Given the description of an element on the screen output the (x, y) to click on. 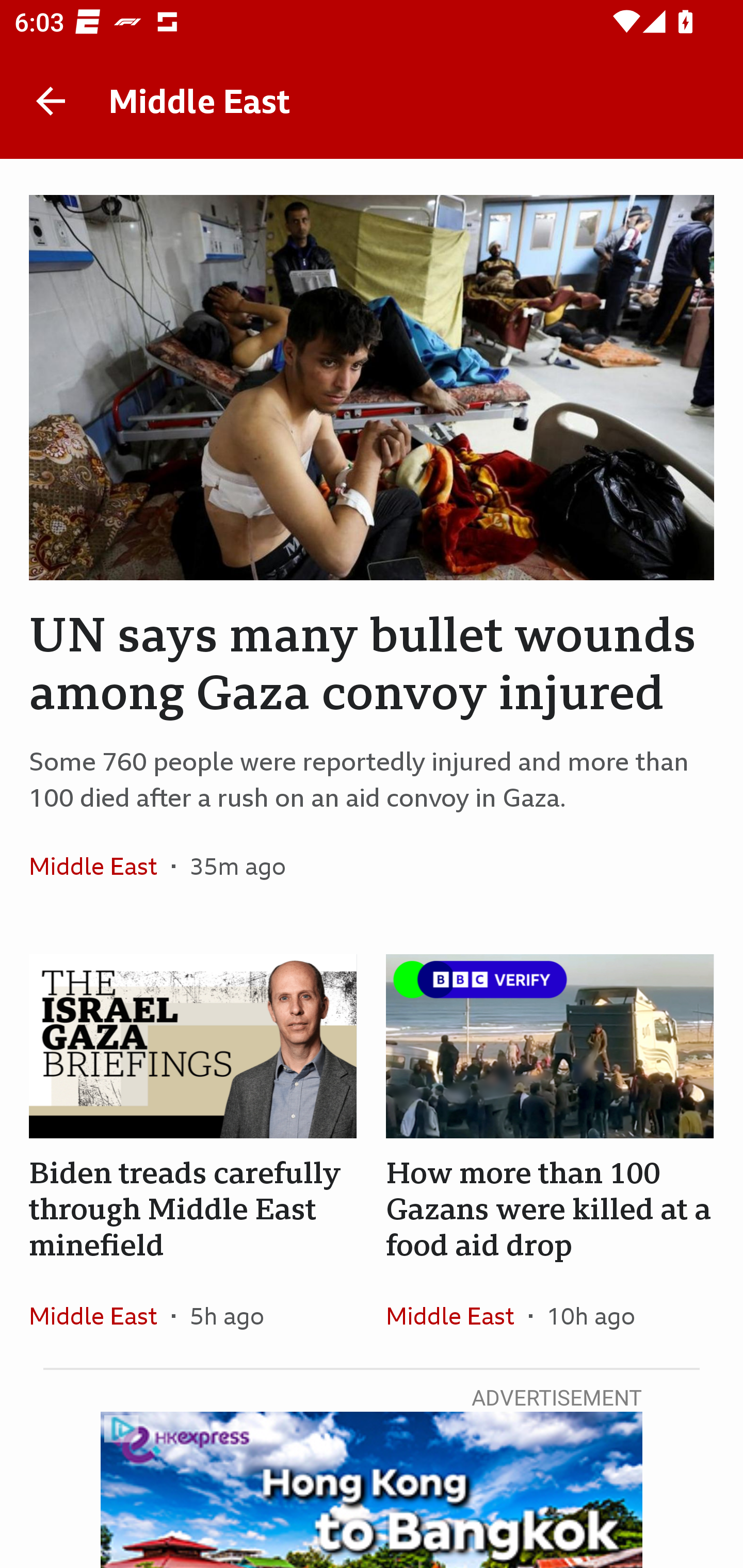
Back (50, 101)
Middle East In the section Middle East (99, 865)
Middle East In the section Middle East (99, 1315)
Middle East In the section Middle East (457, 1315)
k1byuht5_300x250 (371, 1489)
